Given the description of an element on the screen output the (x, y) to click on. 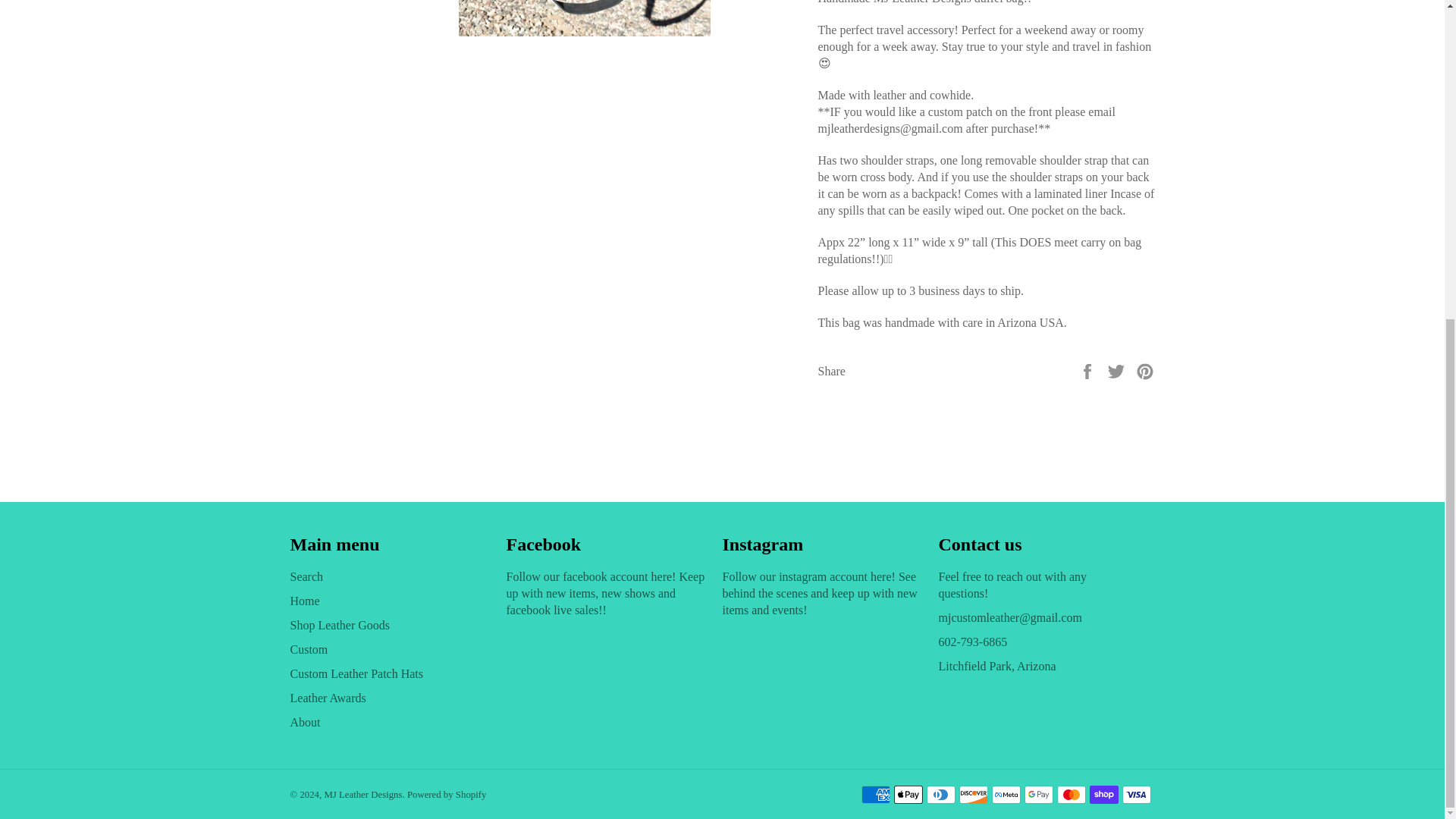
Tweet on Twitter (1117, 369)
Pin on Pinterest (1144, 369)
Share on Facebook (1088, 369)
